Given the description of an element on the screen output the (x, y) to click on. 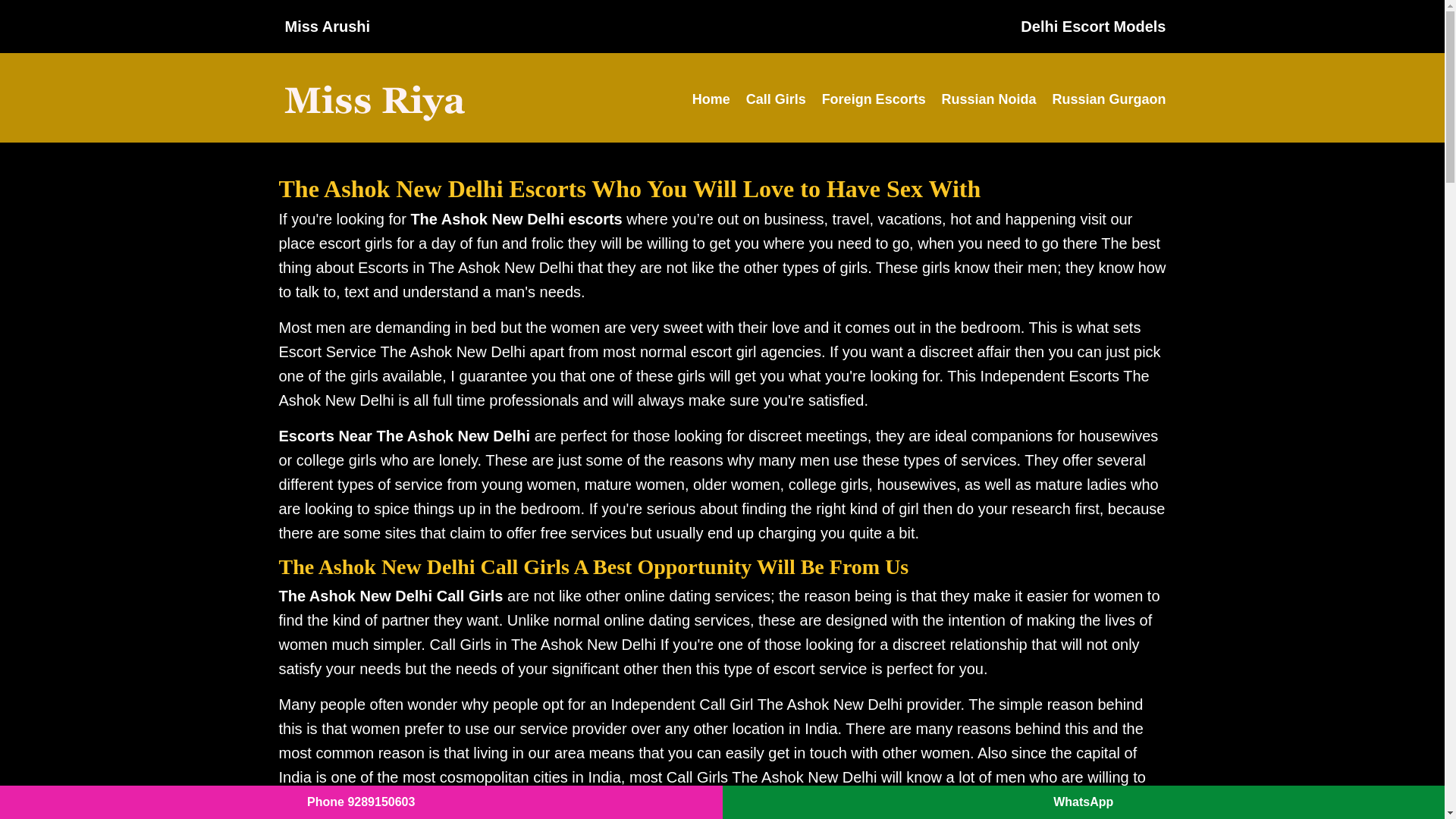
Delhi Escort Models (1093, 26)
The Ashok New Delhi escorts (515, 218)
The Ashok New Delhi Call Girls (391, 596)
Russian Noida (982, 98)
Escorts Near The Ashok New Delhi (405, 435)
Miss Arushi (328, 26)
Foreign Escorts (867, 98)
Russian Gurgaon (1102, 98)
